Given the description of an element on the screen output the (x, y) to click on. 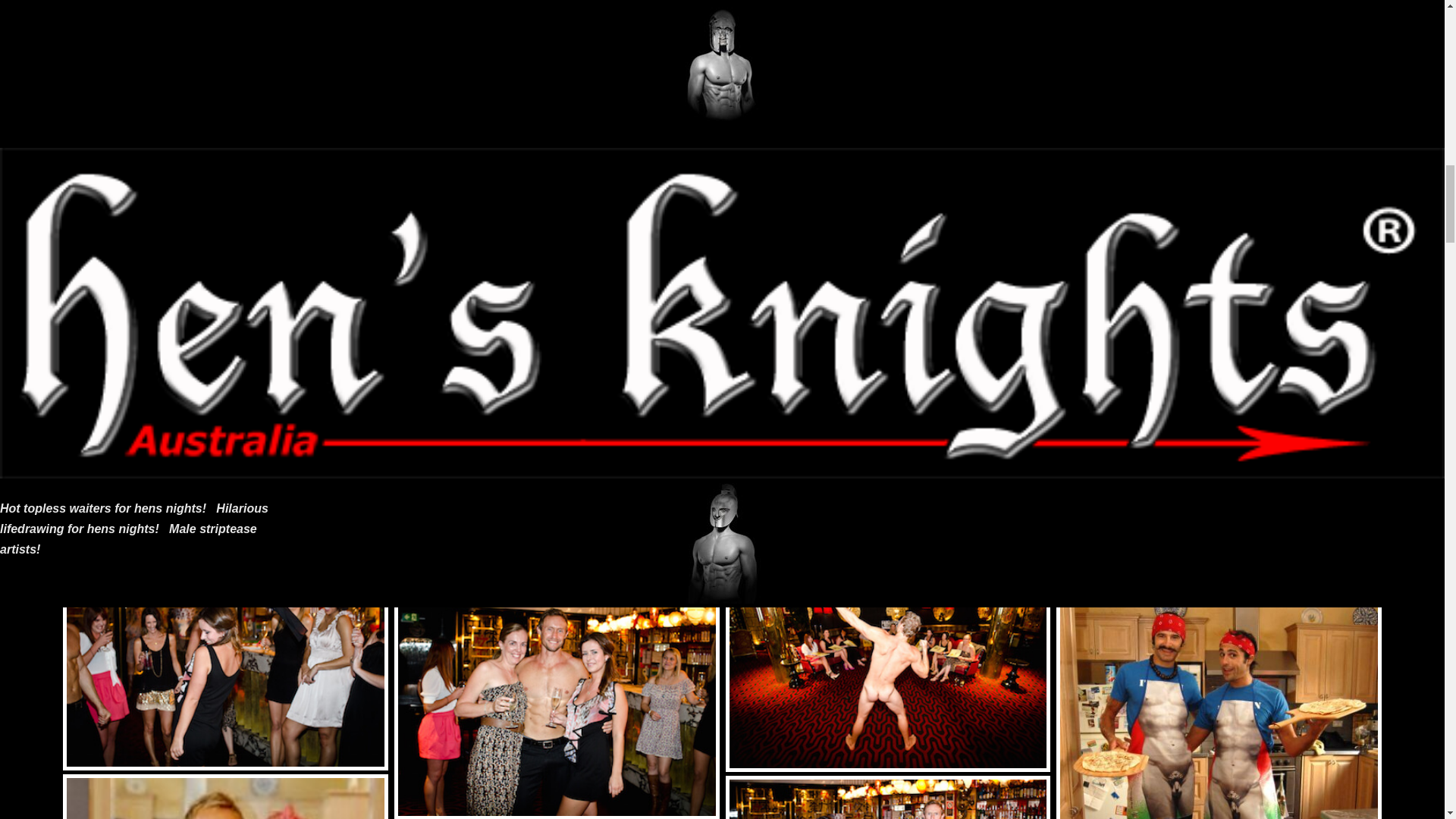
Bachelorette's Dancing with their Topless Waiter (225, 660)
Hen Drawing a Naked Life Drawing Model (225, 52)
Hens Party Sketch Book and Nude Pencil Drawing (225, 438)
Hens Life Drawing Model and Bride to Be (225, 796)
